Given the description of an element on the screen output the (x, y) to click on. 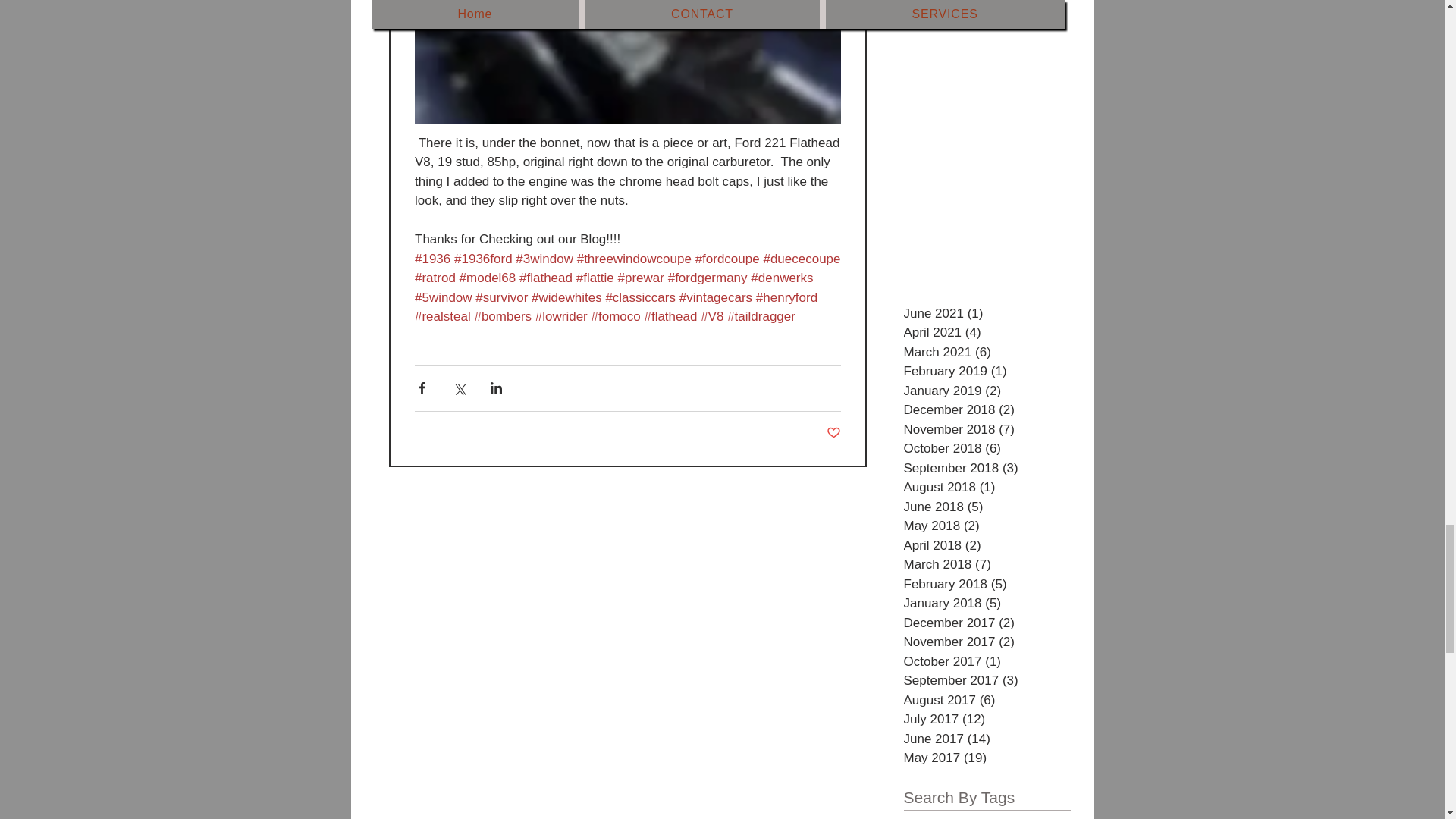
Post not marked as liked (834, 433)
